Given the description of an element on the screen output the (x, y) to click on. 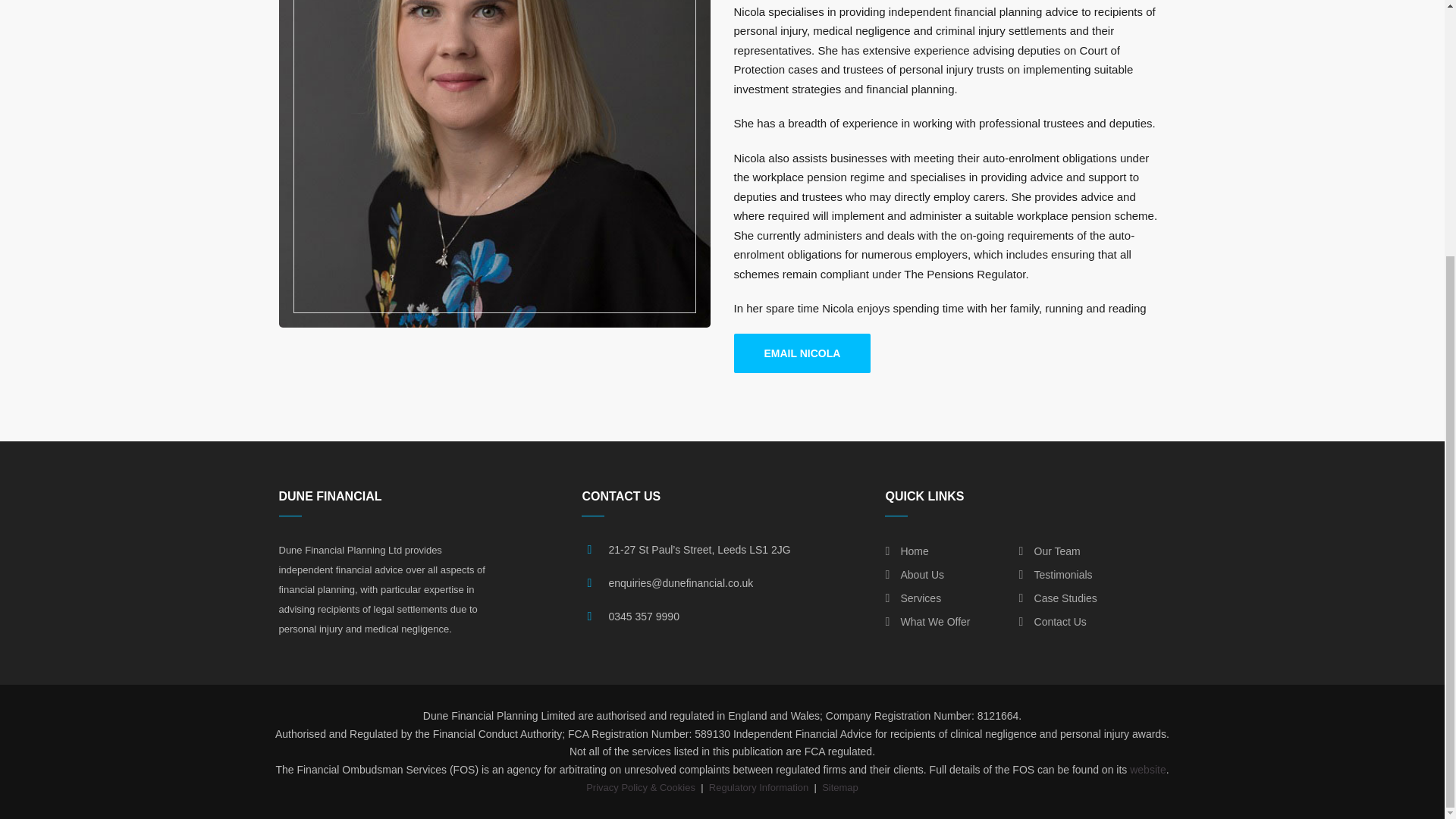
Case Studies (1058, 599)
Testimonials (1058, 576)
About Us (927, 576)
What We Offer (927, 622)
What We Offer (927, 622)
Contact Us (1058, 622)
Our Team (1049, 552)
Services (912, 599)
Services (927, 599)
Our Team (1058, 552)
